Given the description of an element on the screen output the (x, y) to click on. 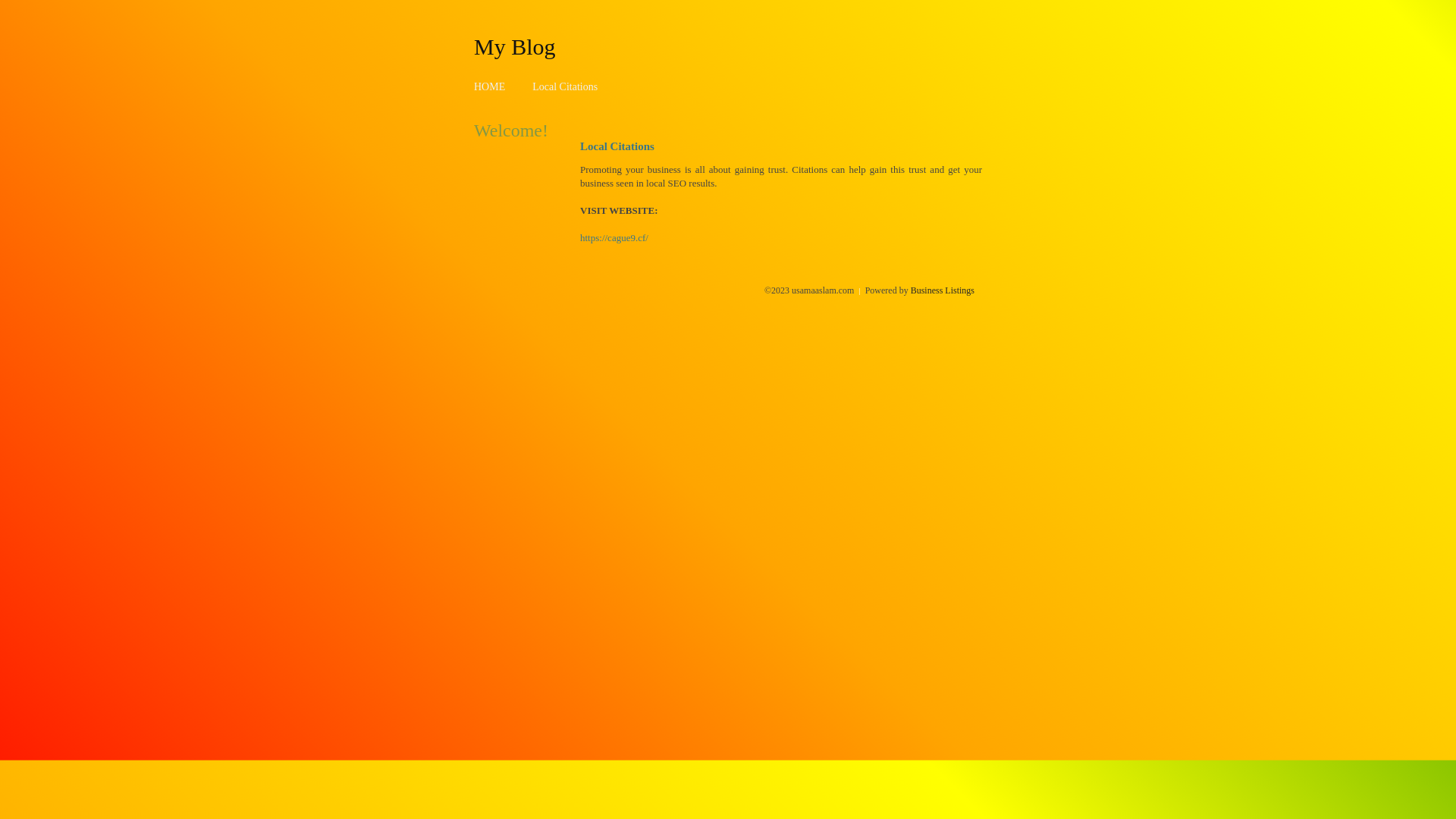
HOME Element type: text (489, 86)
https://cague9.cf/ Element type: text (614, 237)
Local Citations Element type: text (564, 86)
Business Listings Element type: text (942, 290)
My Blog Element type: text (514, 46)
